Given the description of an element on the screen output the (x, y) to click on. 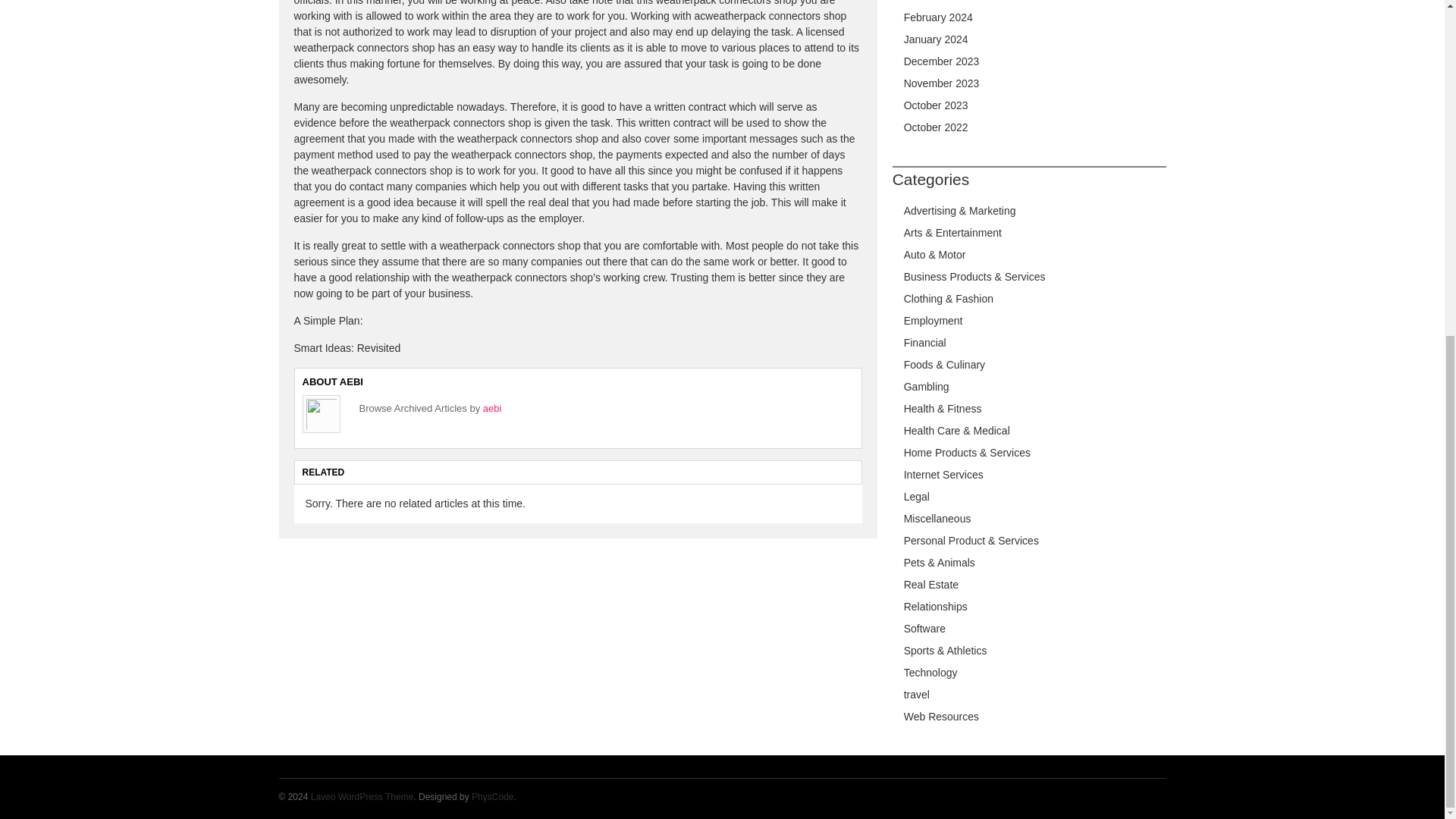
December 2023 (941, 61)
Internet Services (944, 474)
A Simple Plan: (328, 241)
Smart Ideas: Revisited (347, 268)
March 2024 (931, 0)
Legal (917, 496)
November 2023 (941, 82)
Financial (925, 342)
February 2024 (938, 17)
Gambling (926, 386)
aebi (492, 328)
Miscellaneous (937, 518)
January 2024 (936, 39)
October 2022 (936, 127)
October 2023 (936, 105)
